Given the description of an element on the screen output the (x, y) to click on. 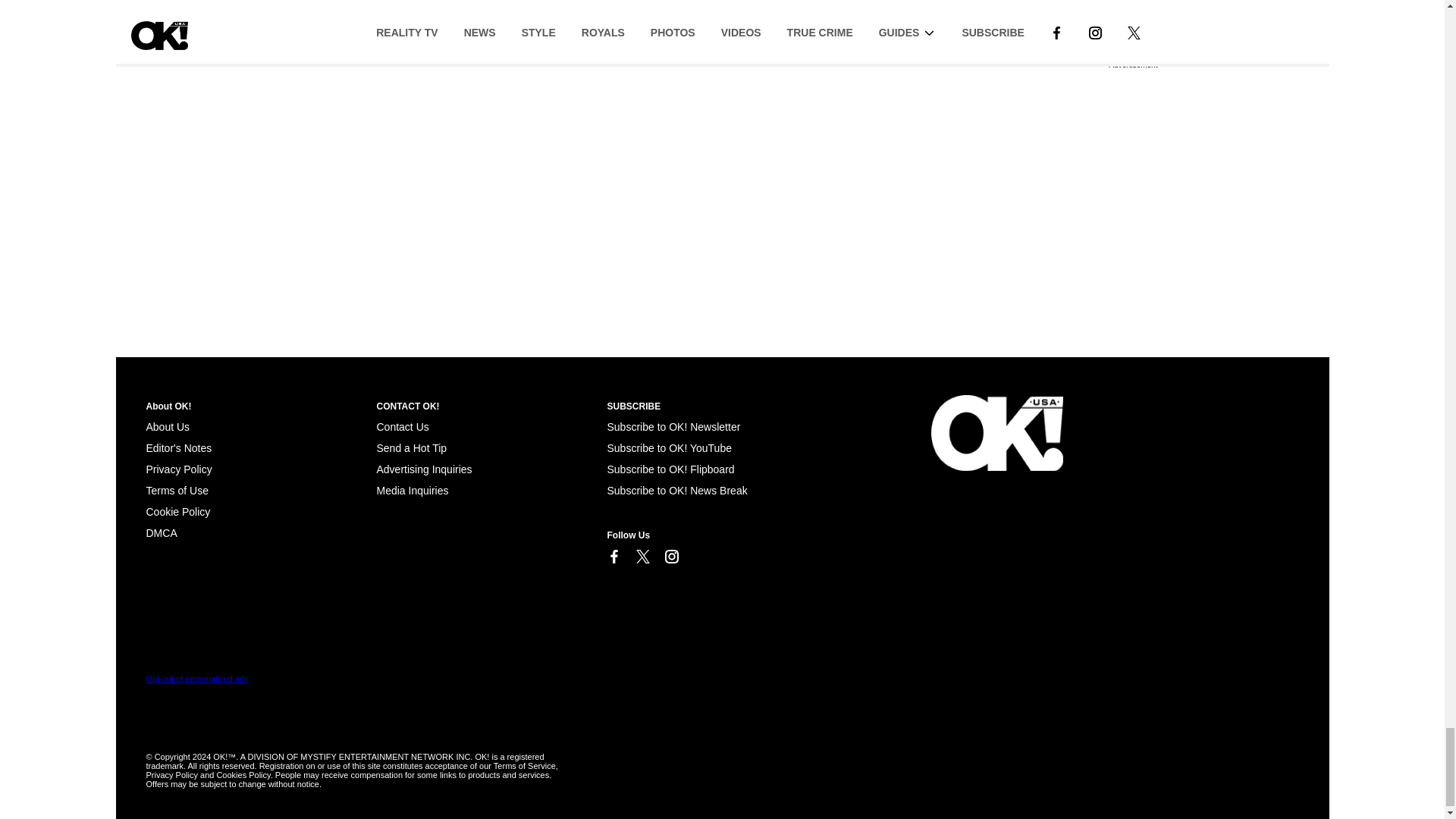
Link to Facebook (613, 556)
Link to Instagram (670, 556)
About Us (167, 426)
Link to X (641, 556)
Cookie Policy (160, 532)
Editor's Notes (178, 448)
Contact Us (401, 426)
Terms of Use (176, 490)
Cookie Policy (177, 511)
Privacy Policy (178, 469)
